Given the description of an element on the screen output the (x, y) to click on. 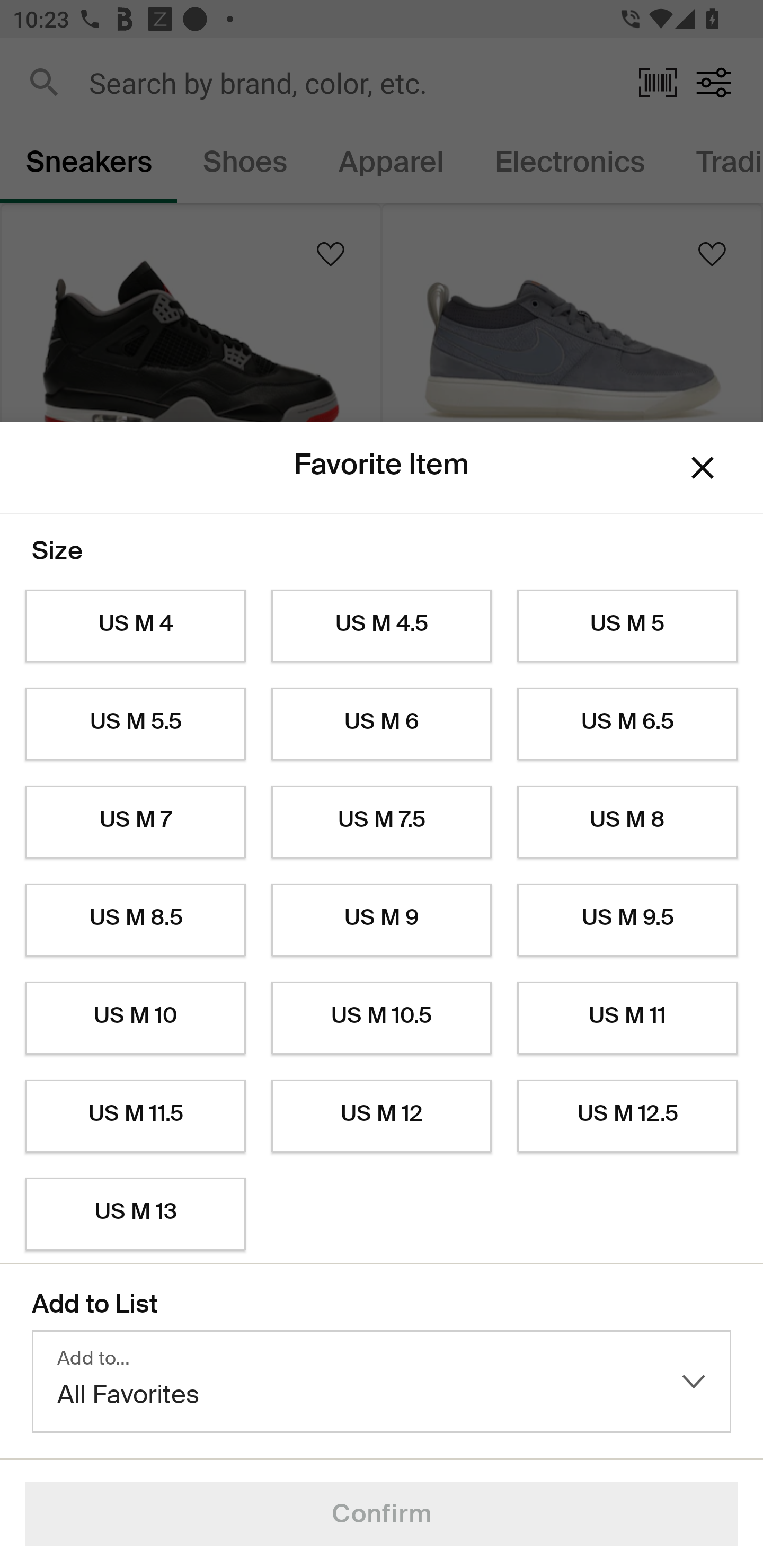
Dismiss (702, 467)
US M 4 (135, 626)
US M 4.5 (381, 626)
US M 5 (627, 626)
US M 5.5 (135, 724)
US M 6 (381, 724)
US M 6.5 (627, 724)
US M 7 (135, 822)
US M 7.5 (381, 822)
US M 8 (627, 822)
US M 8.5 (135, 919)
US M 9 (381, 919)
US M 9.5 (627, 919)
US M 10 (135, 1018)
US M 10.5 (381, 1018)
US M 11 (627, 1018)
US M 11.5 (135, 1116)
US M 12 (381, 1116)
US M 12.5 (627, 1116)
US M 13 (135, 1214)
Add to… All Favorites (381, 1381)
Confirm (381, 1513)
